Given the description of an element on the screen output the (x, y) to click on. 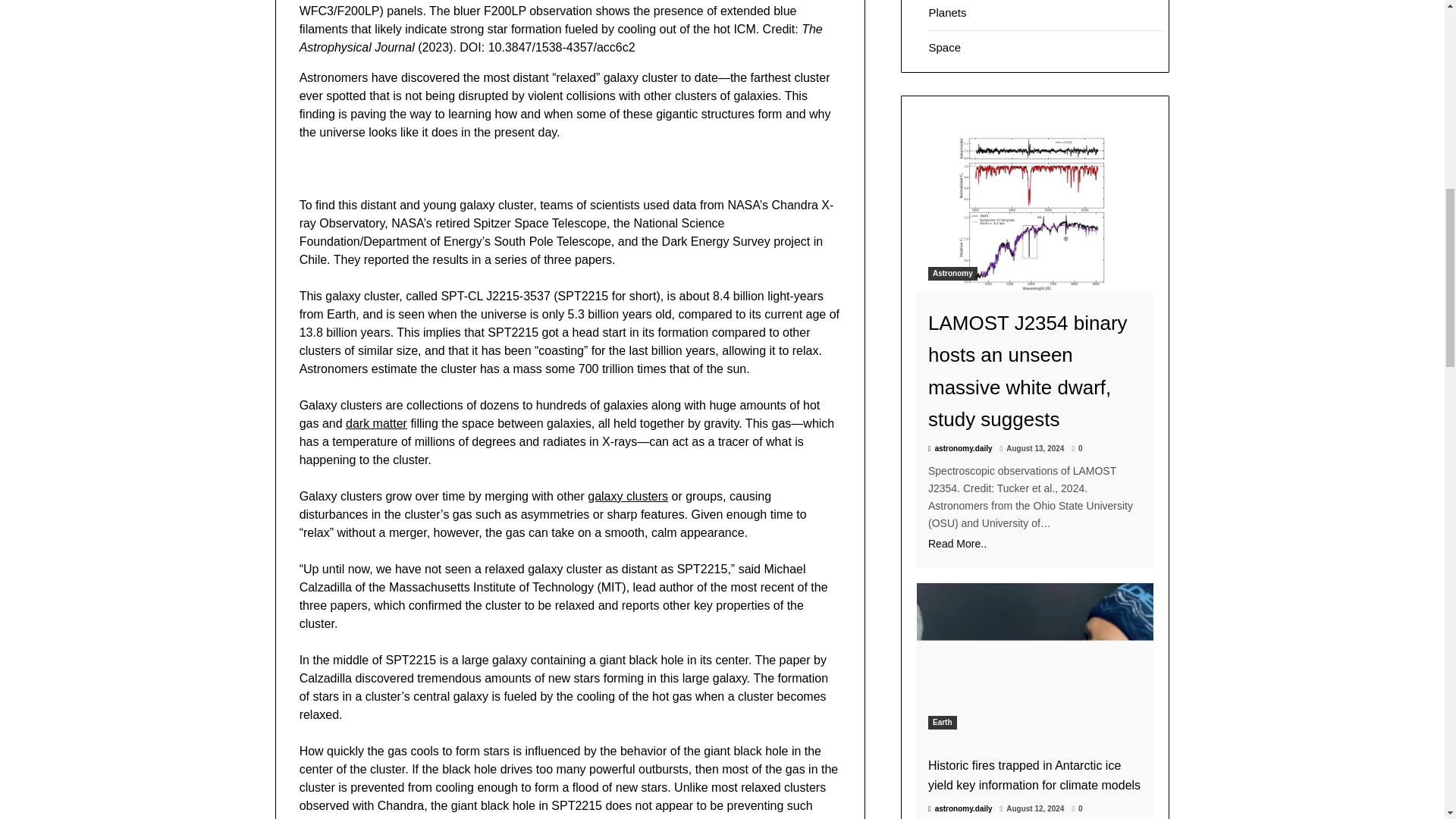
dark matter (376, 422)
Space (944, 47)
galaxy clusters (628, 495)
Planets (947, 11)
Read More.. (1034, 543)
astronomy.daily (960, 448)
Astronomy (952, 273)
